Given the description of an element on the screen output the (x, y) to click on. 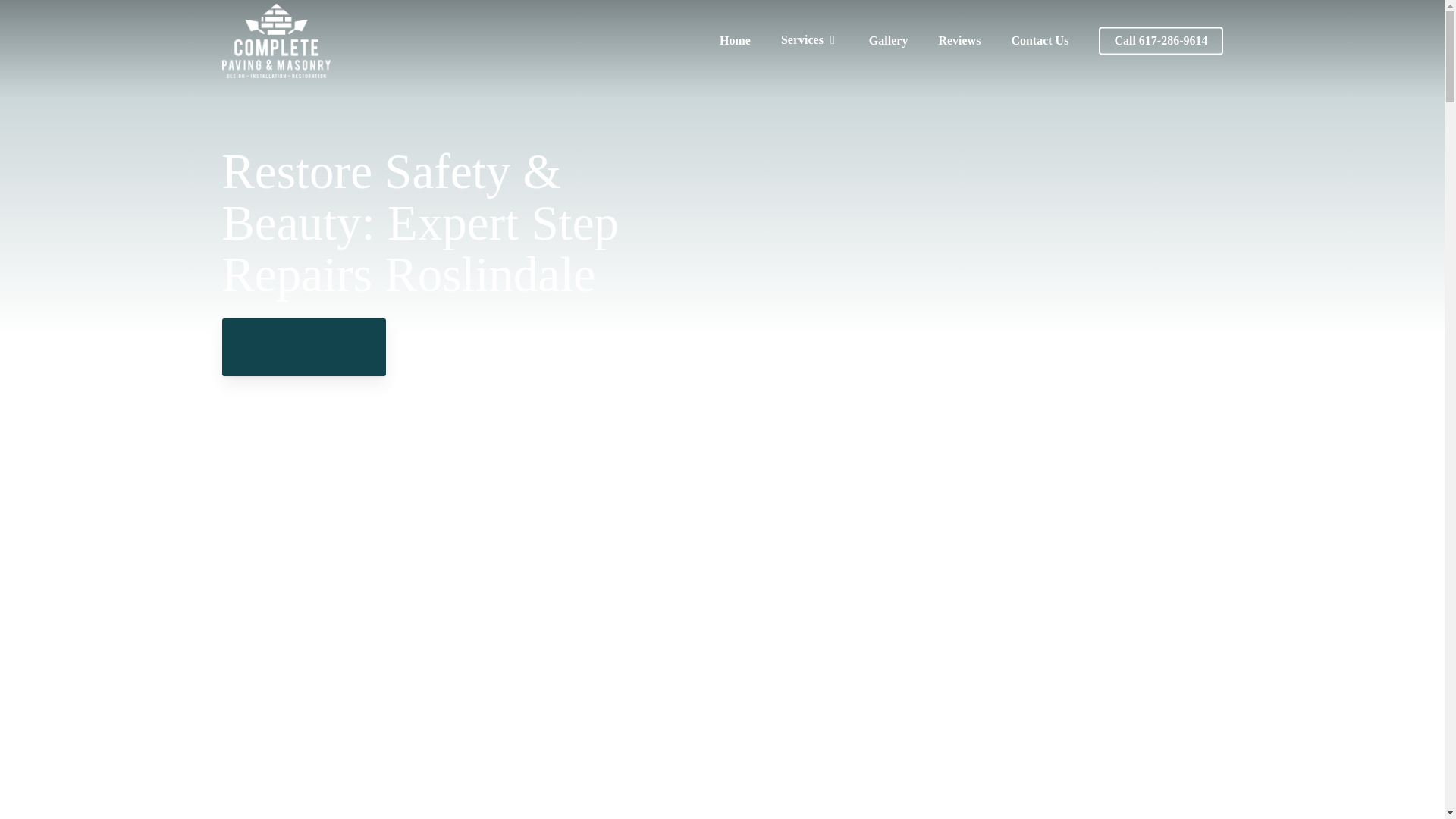
Contact Us (1039, 40)
Reviews (959, 40)
Home (734, 40)
Gallery (888, 40)
Call 617-286-9614 (1161, 40)
Services (809, 40)
